Given the description of an element on the screen output the (x, y) to click on. 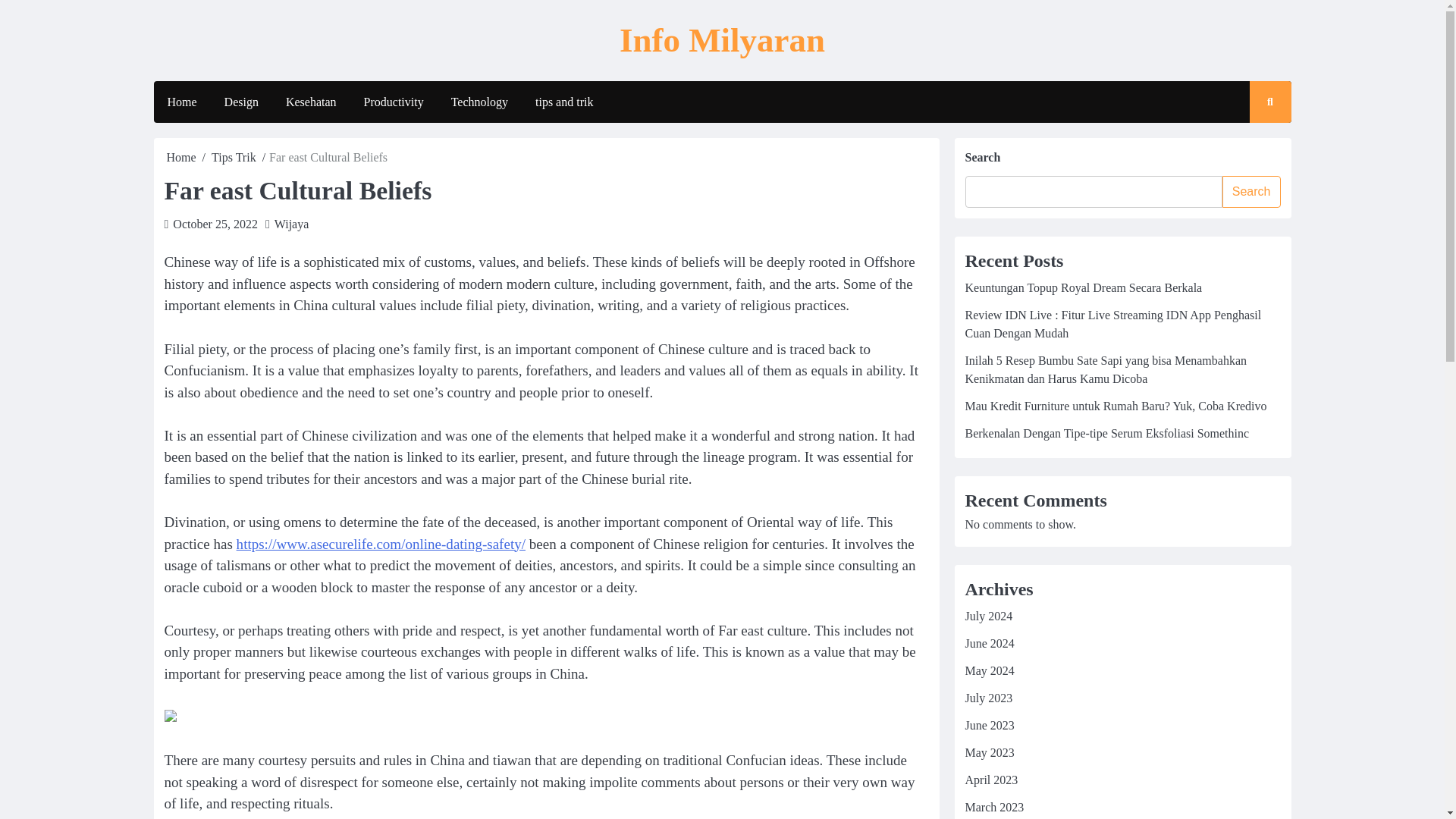
Mau Kredit Furniture untuk Rumah Baru? Yuk, Coba Kredivo (1114, 405)
Design (241, 102)
Search (1256, 145)
October 25, 2022 (215, 223)
June 2024 (988, 643)
July 2024 (987, 615)
Info Milyaran (722, 39)
Technology (479, 102)
